Given the description of an element on the screen output the (x, y) to click on. 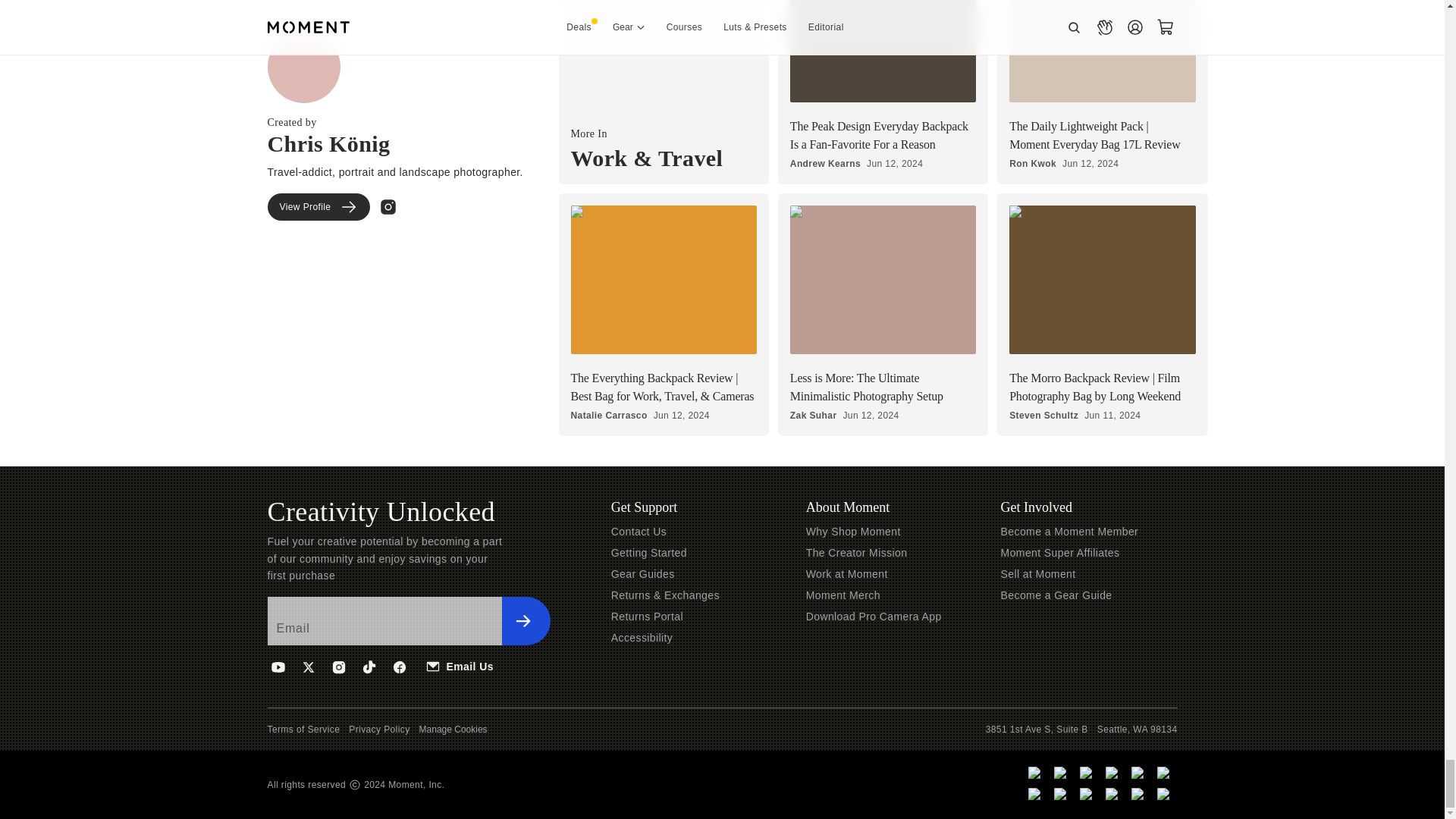
Go to thechriskonig (387, 117)
